Given the description of an element on the screen output the (x, y) to click on. 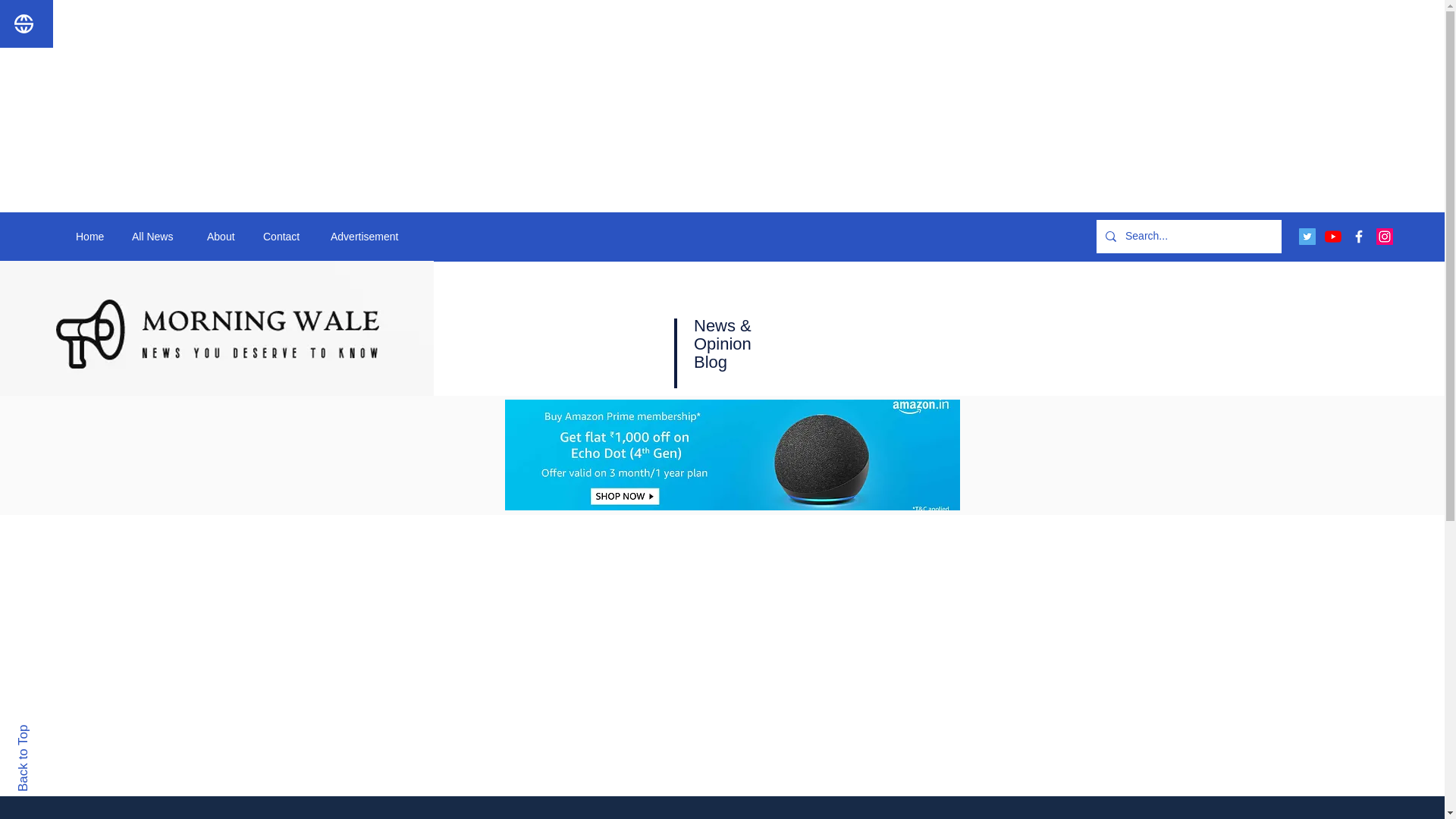
Contact (284, 236)
Advertisement (372, 236)
All News (157, 236)
Home (92, 236)
Back to Top (49, 730)
About (223, 236)
